Given the description of an element on the screen output the (x, y) to click on. 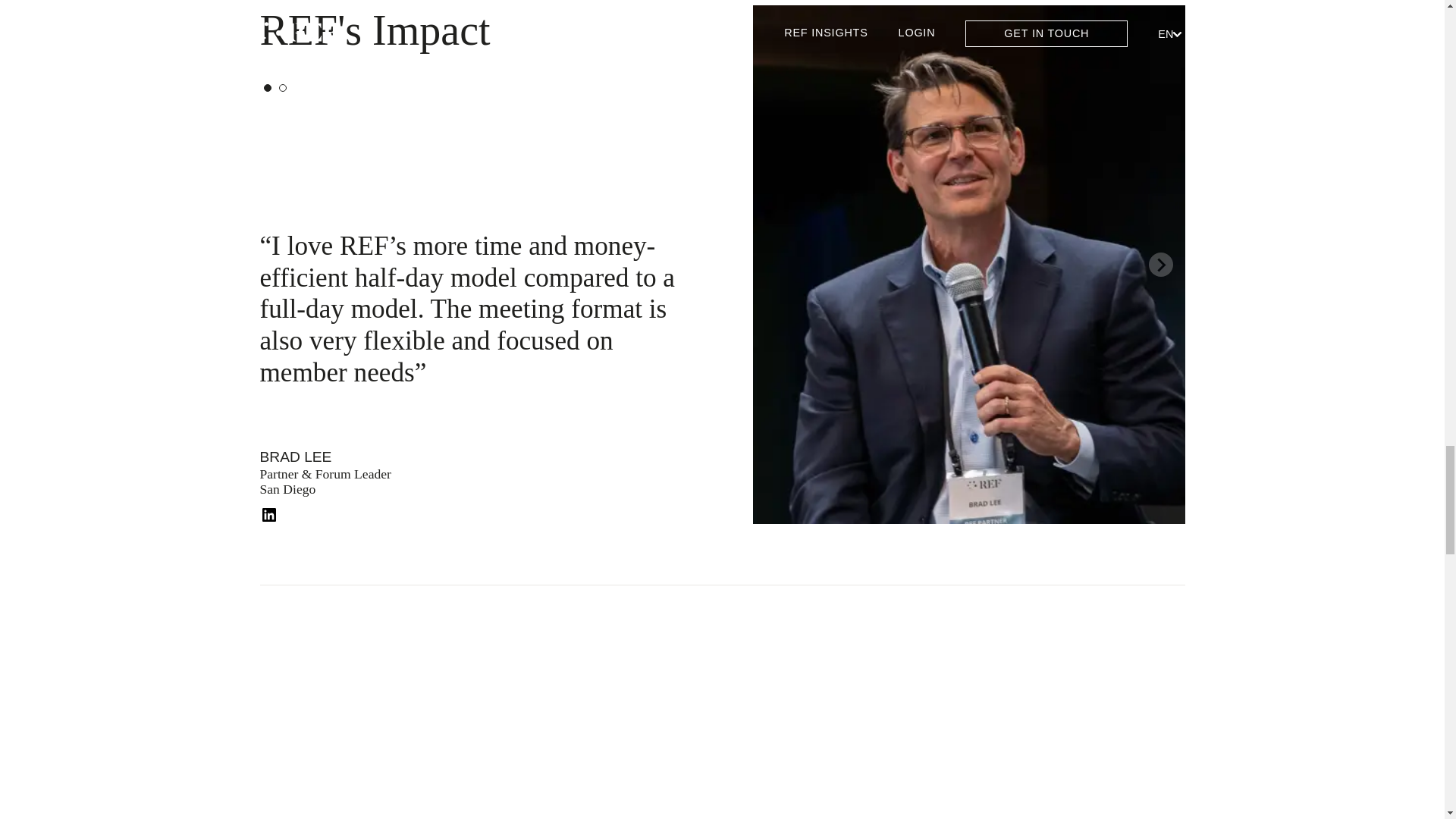
BRAD LEE (295, 456)
